Given the description of an element on the screen output the (x, y) to click on. 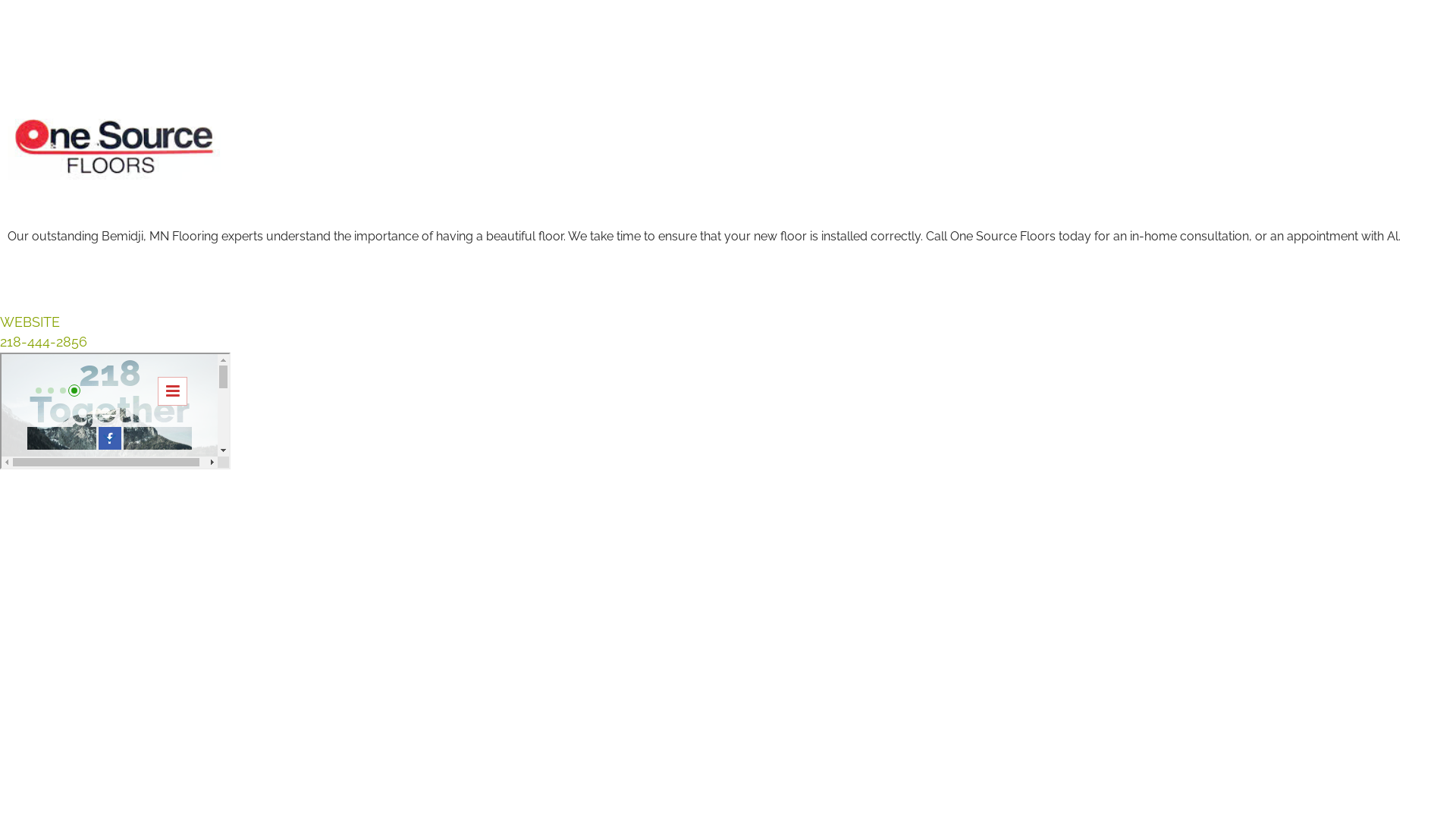
WEBSITE Element type: text (29, 321)
218-444-2856 Element type: text (43, 341)
